Given the description of an element on the screen output the (x, y) to click on. 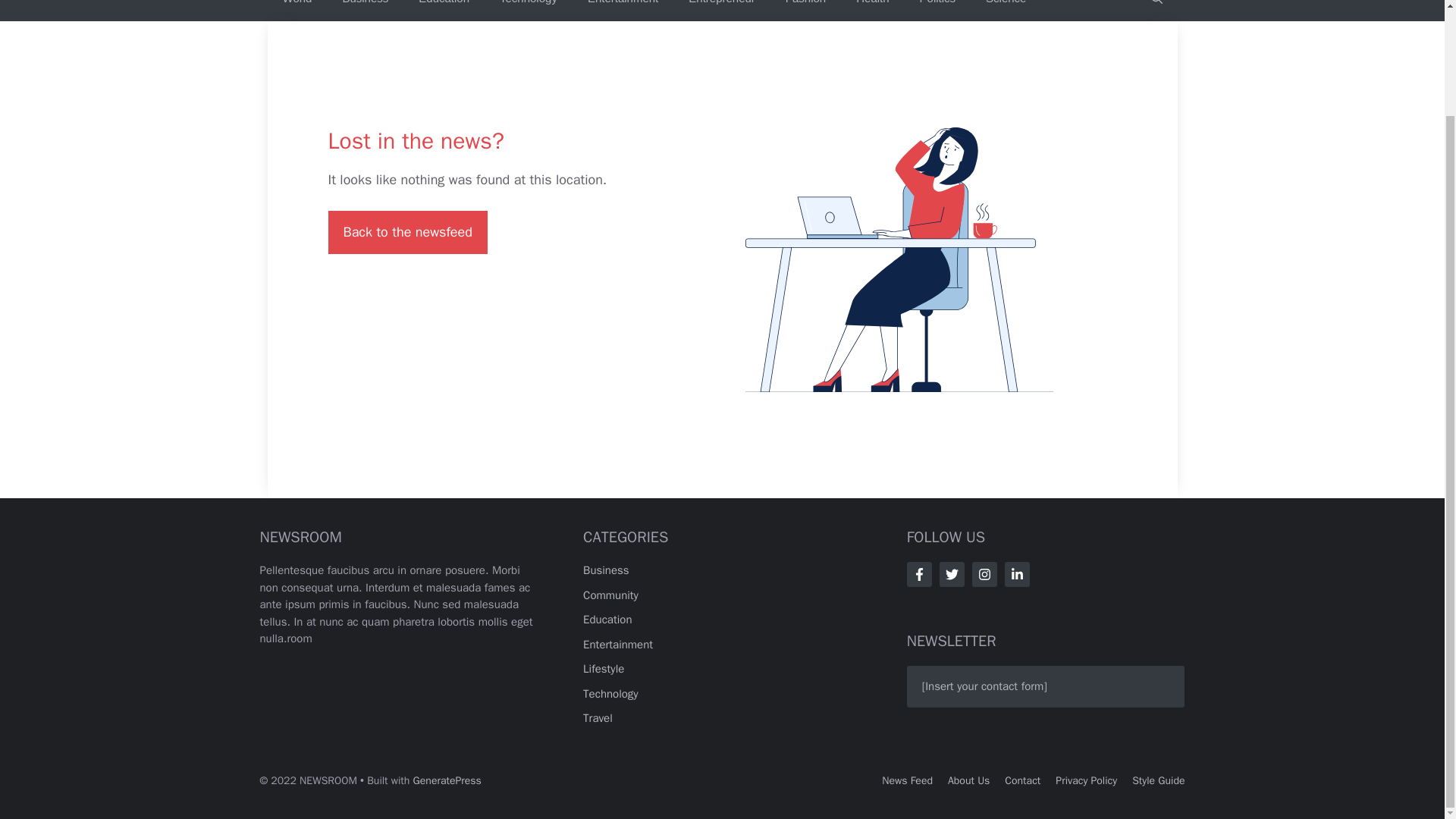
World (296, 10)
Business (364, 10)
Lifestyle (603, 668)
Entrepreneur (721, 10)
Contact (1022, 780)
Education (443, 10)
Politics (937, 10)
Technology (611, 694)
Education (607, 619)
Science (1006, 10)
